Given the description of an element on the screen output the (x, y) to click on. 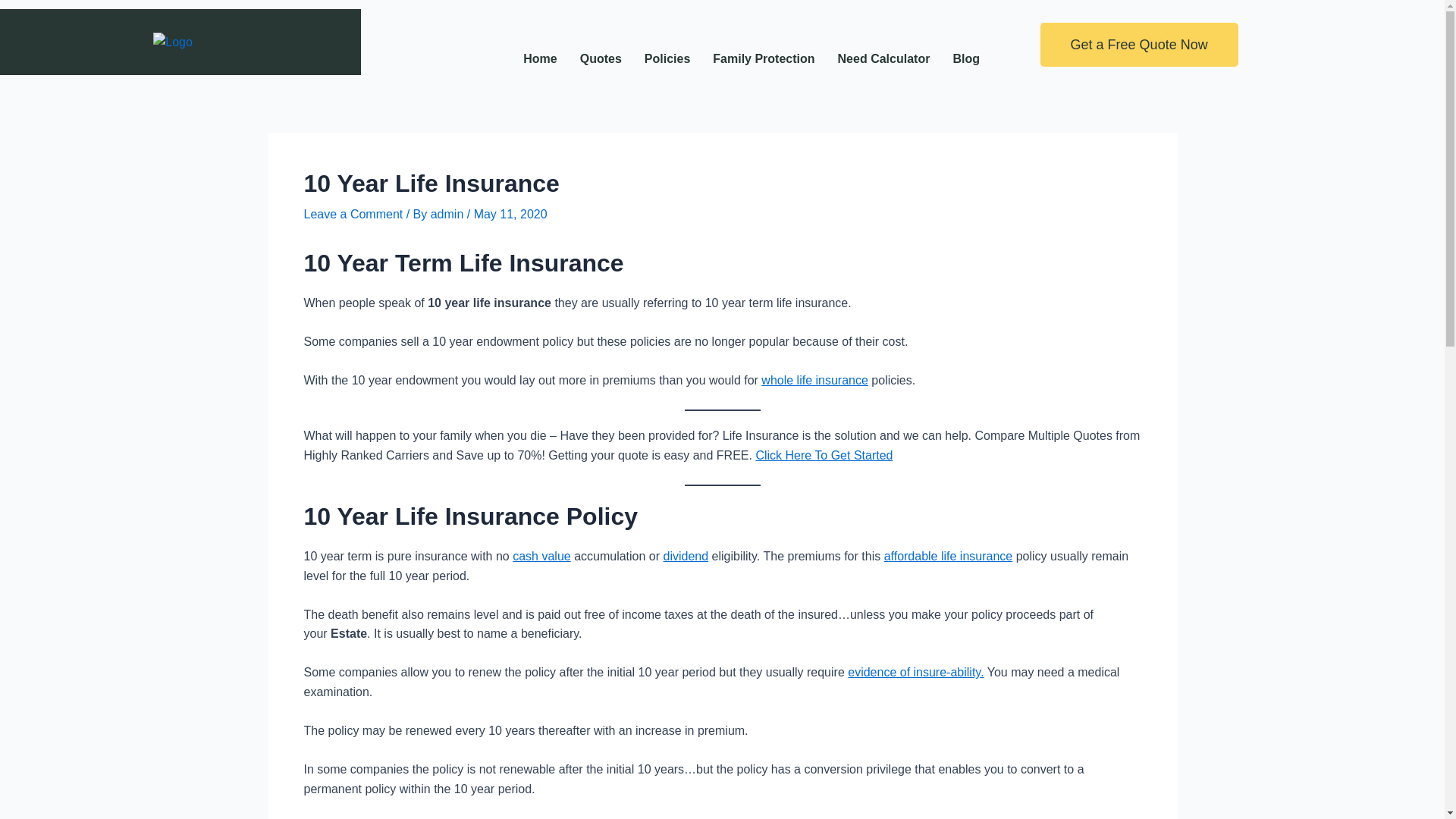
Family Protection (763, 58)
View all posts by admin (448, 214)
affordable life insurance (948, 555)
Click Here To Get Started (823, 454)
Need Calculator (884, 58)
Quotes (601, 58)
Get a Free Quote Now (1140, 44)
Policies (667, 58)
cash value (541, 555)
Blog (965, 58)
